Given the description of an element on the screen output the (x, y) to click on. 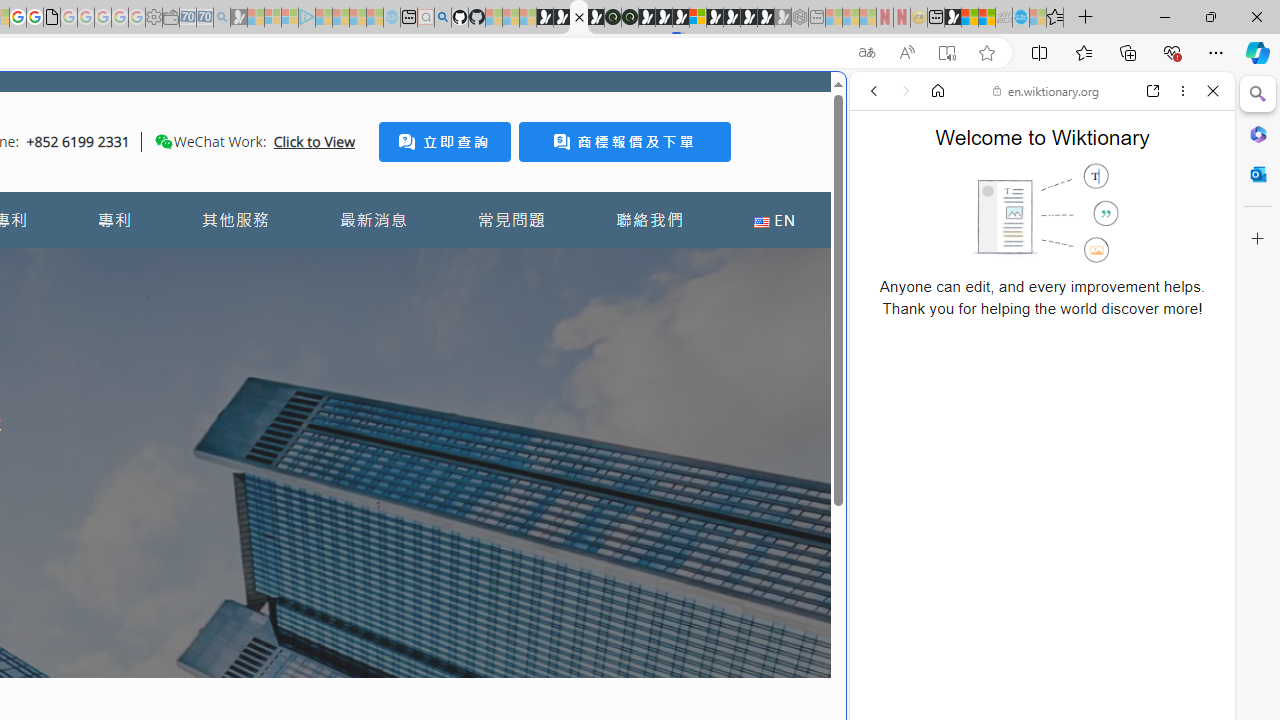
Search Filter, WEB (882, 228)
Frequently visited (418, 265)
Class: b_serphb (1190, 229)
Show translate options (867, 53)
